Given the description of an element on the screen output the (x, y) to click on. 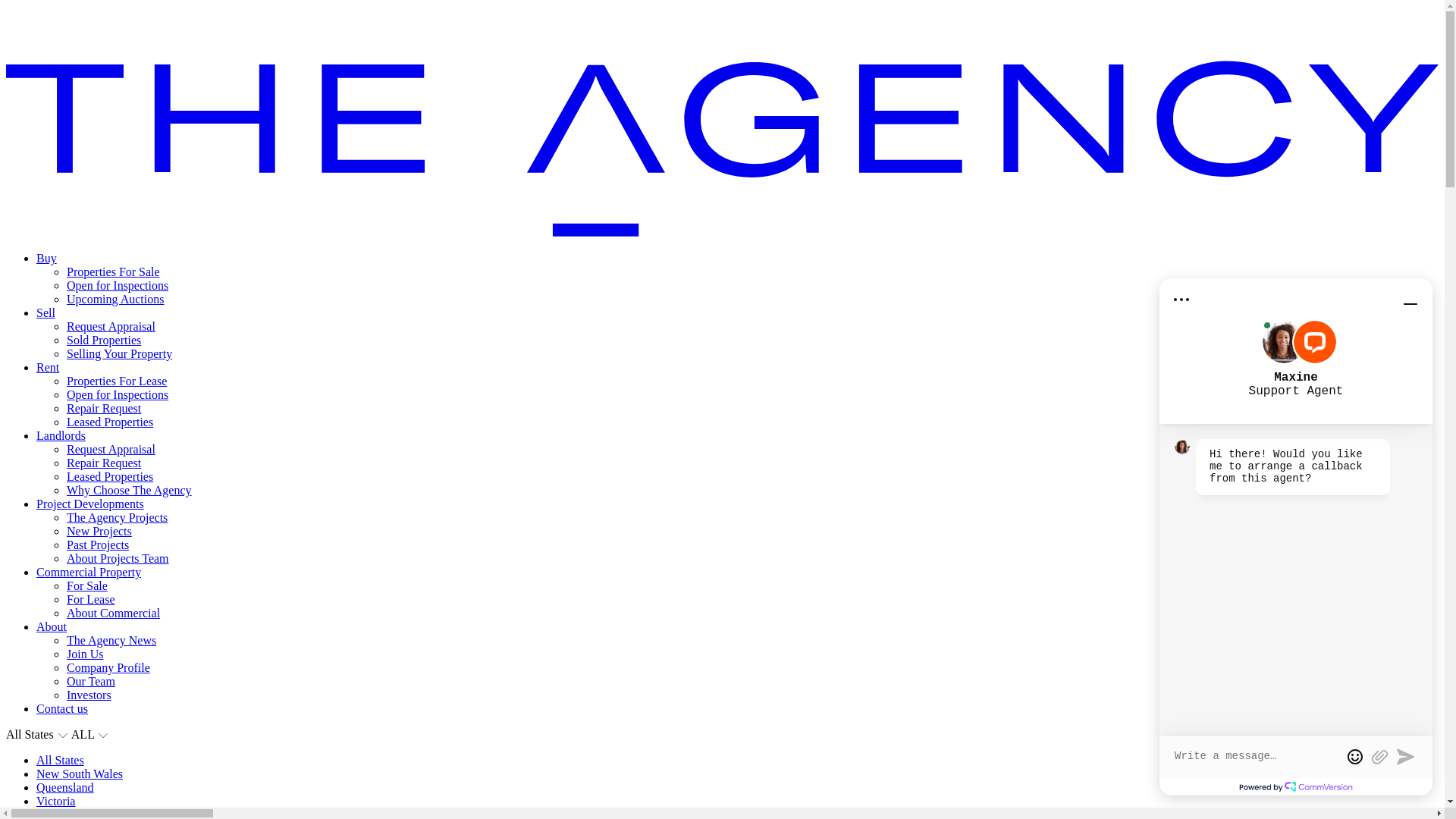
Properties For Lease Element type: text (116, 380)
For Lease Element type: text (90, 599)
Landlords Element type: text (60, 435)
Request Appraisal Element type: text (110, 448)
Company Profile Element type: text (108, 667)
New South Wales Element type: text (79, 773)
Commercial Property Element type: text (88, 571)
About Element type: text (51, 626)
LiveChat chat widget Element type: hover (1295, 536)
Past Projects Element type: text (97, 544)
Request Appraisal Element type: text (110, 326)
The Agency News Element type: text (111, 639)
Repair Request Element type: text (103, 407)
Leased Properties Element type: text (109, 476)
Victoria Element type: text (55, 800)
Buy Element type: text (46, 257)
Open for Inspections Element type: text (117, 285)
Selling Your Property Element type: text (119, 353)
Our Team Element type: text (90, 680)
Join Us Element type: text (84, 653)
Properties For Sale Element type: text (113, 271)
Contact us Element type: text (61, 708)
Why Choose The Agency Element type: text (128, 489)
The Agency Projects Element type: text (116, 517)
Sell Element type: text (45, 312)
About Projects Team Element type: text (117, 558)
New Projects Element type: text (98, 530)
Upcoming Auctions Element type: text (114, 298)
Investors Element type: text (88, 694)
All States Element type: text (60, 759)
Queensland Element type: text (65, 787)
Open for Inspections Element type: text (117, 394)
Rent Element type: text (47, 366)
Sold Properties Element type: text (103, 339)
About Commercial Element type: text (113, 612)
Repair Request Element type: text (103, 462)
Leased Properties Element type: text (109, 421)
For Sale Element type: text (86, 585)
Project Developments Element type: text (90, 503)
